Given the description of an element on the screen output the (x, y) to click on. 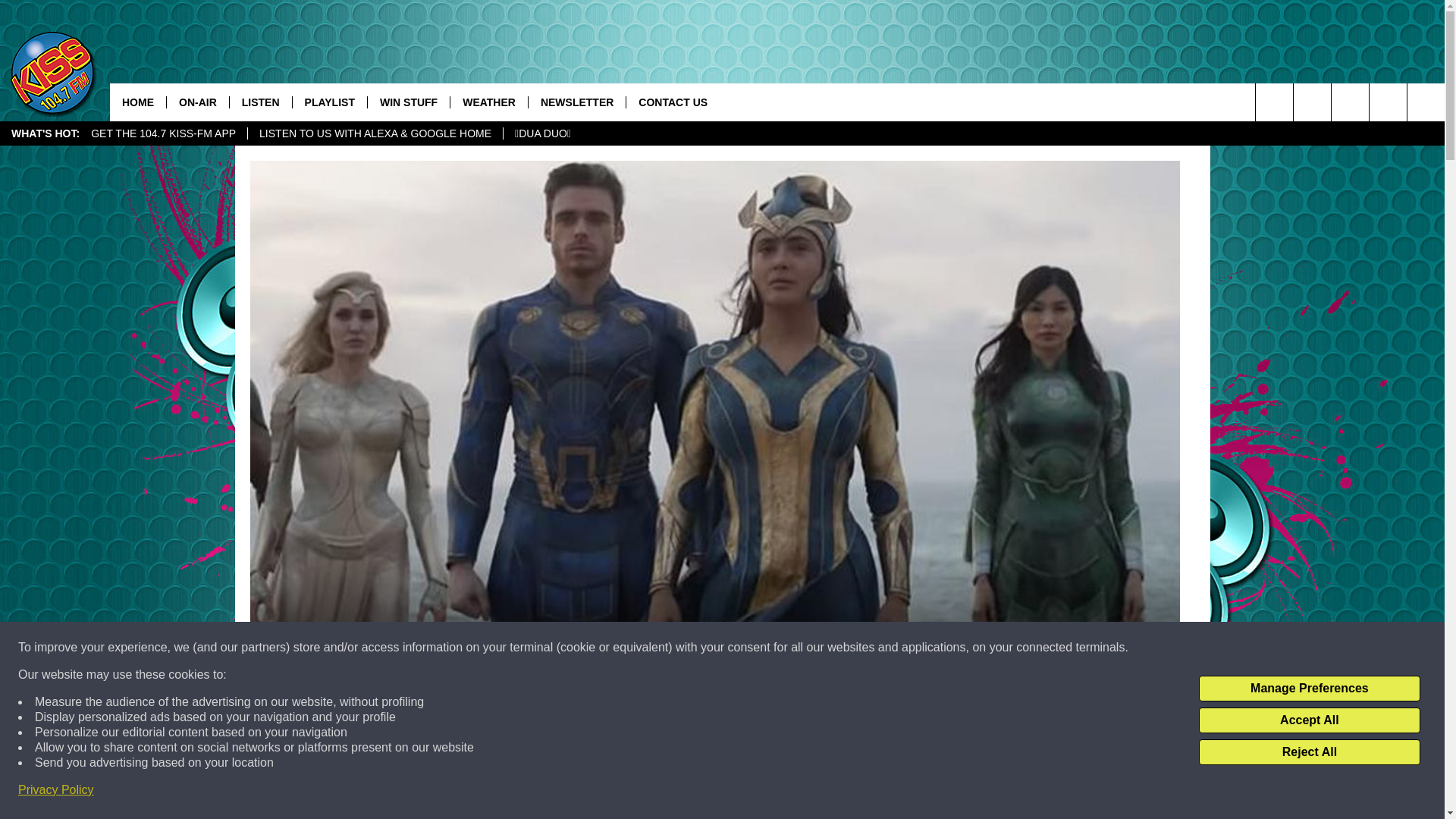
NEWSLETTER (576, 102)
Share on Twitter (912, 791)
GET THE 104.7 KISS-FM APP (163, 133)
Manage Preferences (1309, 688)
WEATHER (488, 102)
Reject All (1309, 751)
Share on Facebook (517, 791)
WIN STUFF (407, 102)
ON-AIR (196, 102)
Privacy Policy (55, 789)
Accept All (1309, 720)
LISTEN (260, 102)
CONTACT US (672, 102)
PLAYLIST (329, 102)
HOME (137, 102)
